Given the description of an element on the screen output the (x, y) to click on. 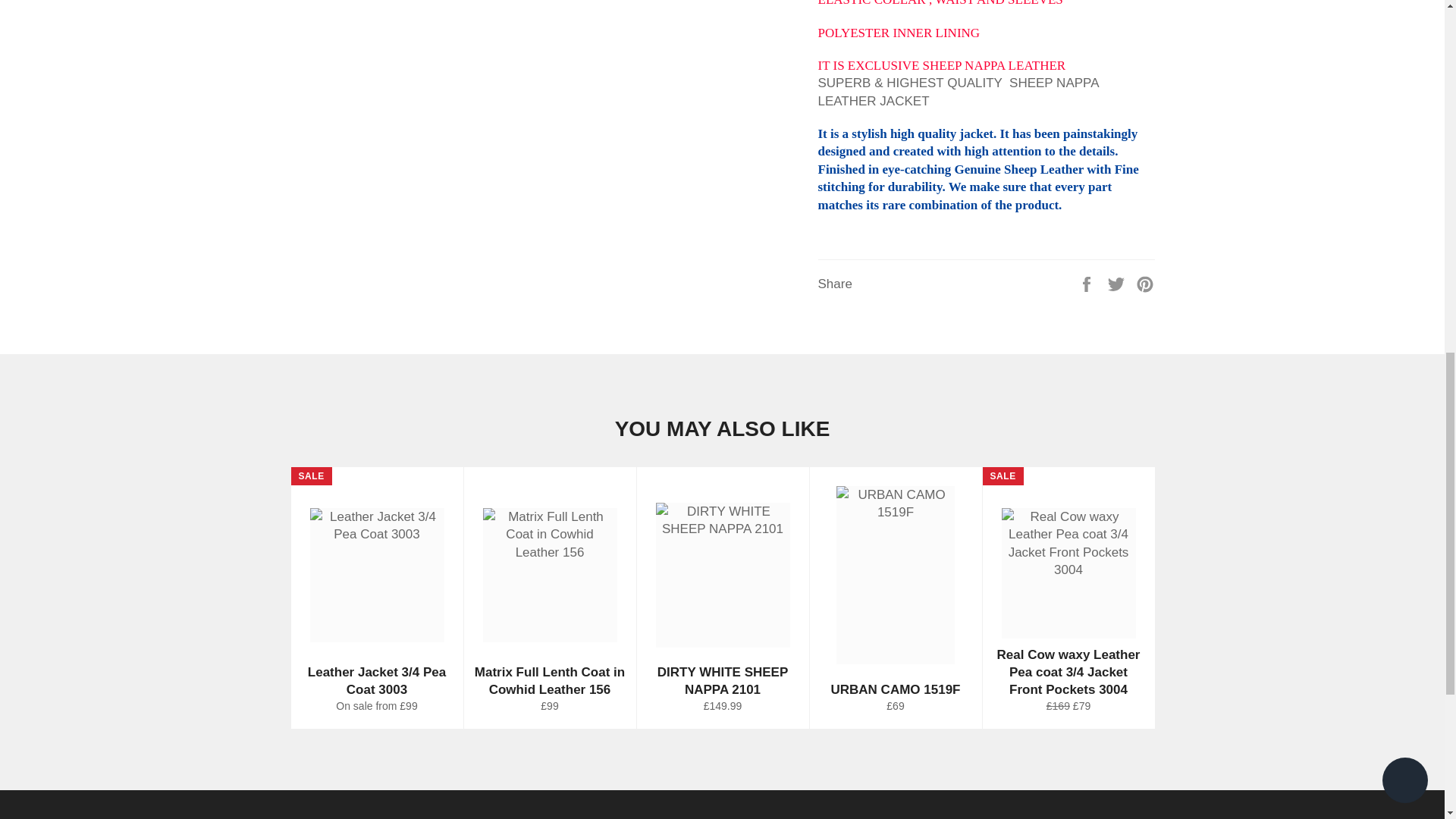
Tweet on Twitter (1117, 283)
Pin on Pinterest (1144, 283)
Share on Facebook (1088, 283)
